Given the description of an element on the screen output the (x, y) to click on. 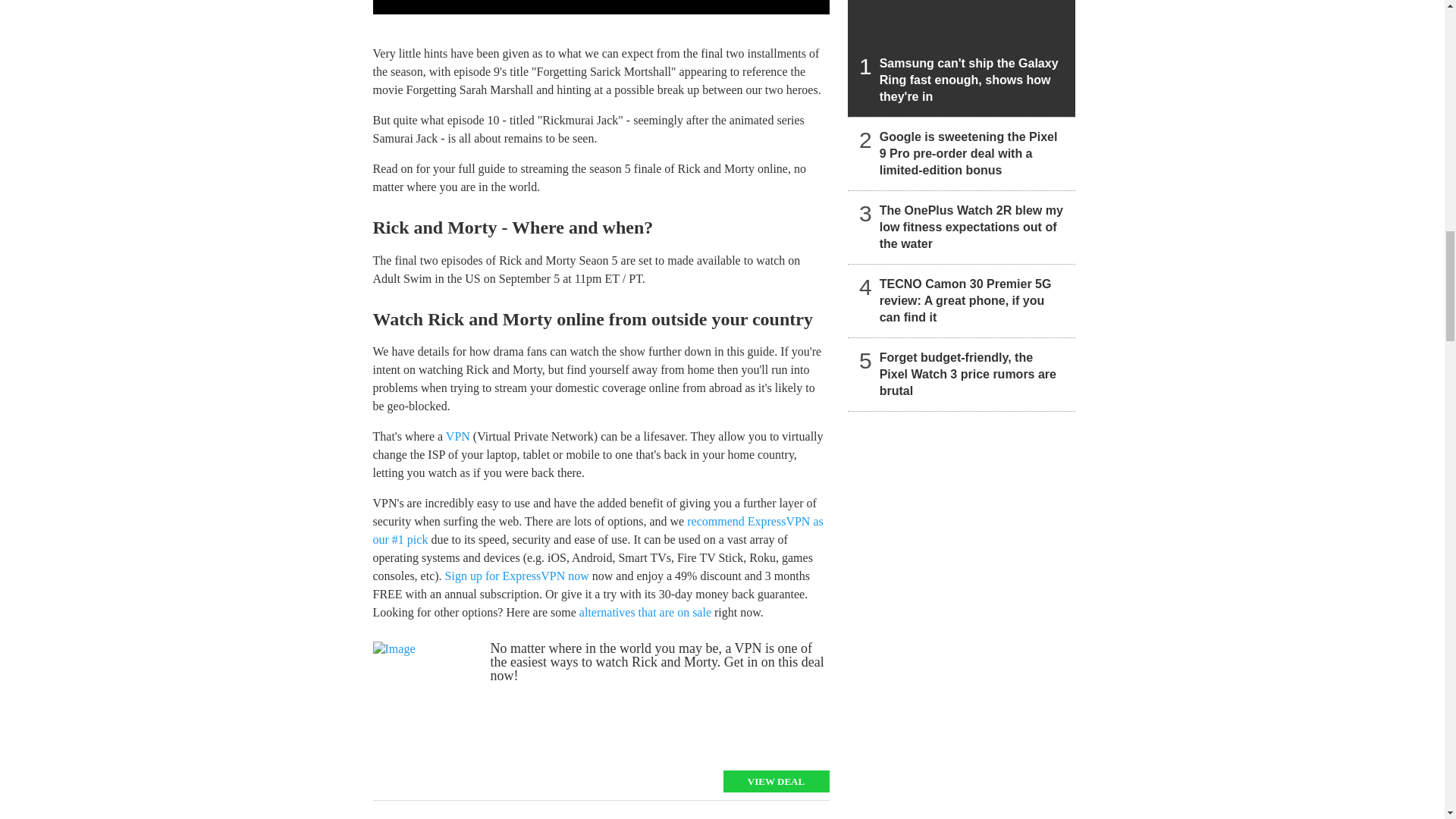
Image (425, 698)
